Given the description of an element on the screen output the (x, y) to click on. 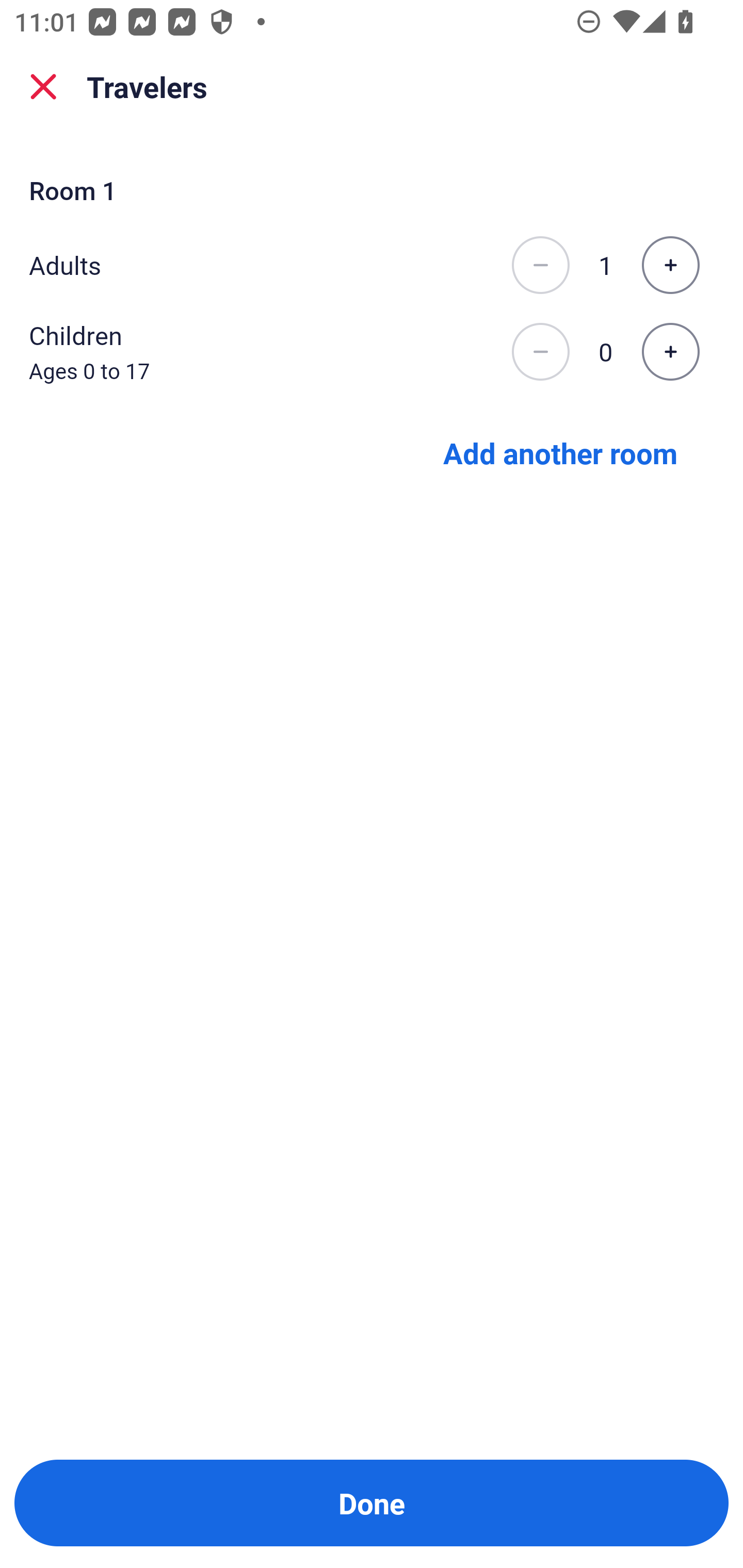
close (43, 86)
Decrease the number of adults (540, 264)
Increase the number of adults (670, 264)
Decrease the number of children (540, 351)
Increase the number of children (670, 351)
Add another room (560, 452)
Done (371, 1502)
